Given the description of an element on the screen output the (x, y) to click on. 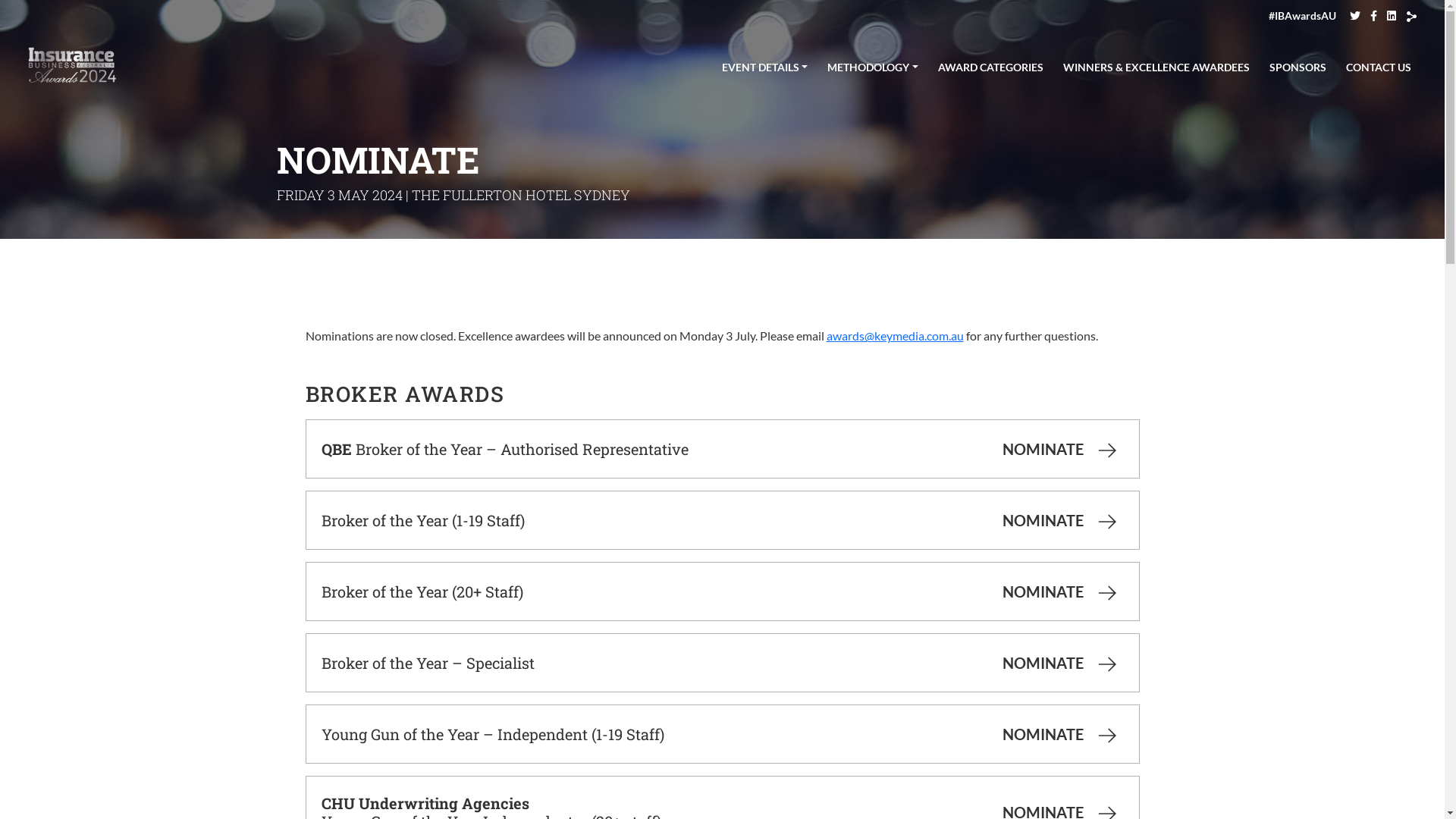
#IBAwardsAU Element type: text (1302, 15)
CONTACT US Element type: text (1378, 64)
Share to Element type: hover (1411, 16)
WINNERS & EXCELLENCE AWARDEES Element type: text (1156, 64)
Broker of the Year (1-19 Staff)
NOMINATE Element type: text (721, 519)
EVENT DETAILS Element type: text (764, 64)
SPONSORS Element type: text (1297, 64)
Insurance Business Awards Australia LinkedIn page Element type: hover (1391, 15)
AWARD CATEGORIES Element type: text (990, 64)
Insurance Business Awards Australia Facebook page Element type: hover (1373, 15)
Broker of the Year (20+ Staff)
NOMINATE Element type: text (721, 591)
Insurance Business Awards Australia Twitter page Element type: hover (1355, 15)
METHODOLOGY Element type: text (872, 64)
awards@keymedia.com.au Element type: text (894, 335)
